Given the description of an element on the screen output the (x, y) to click on. 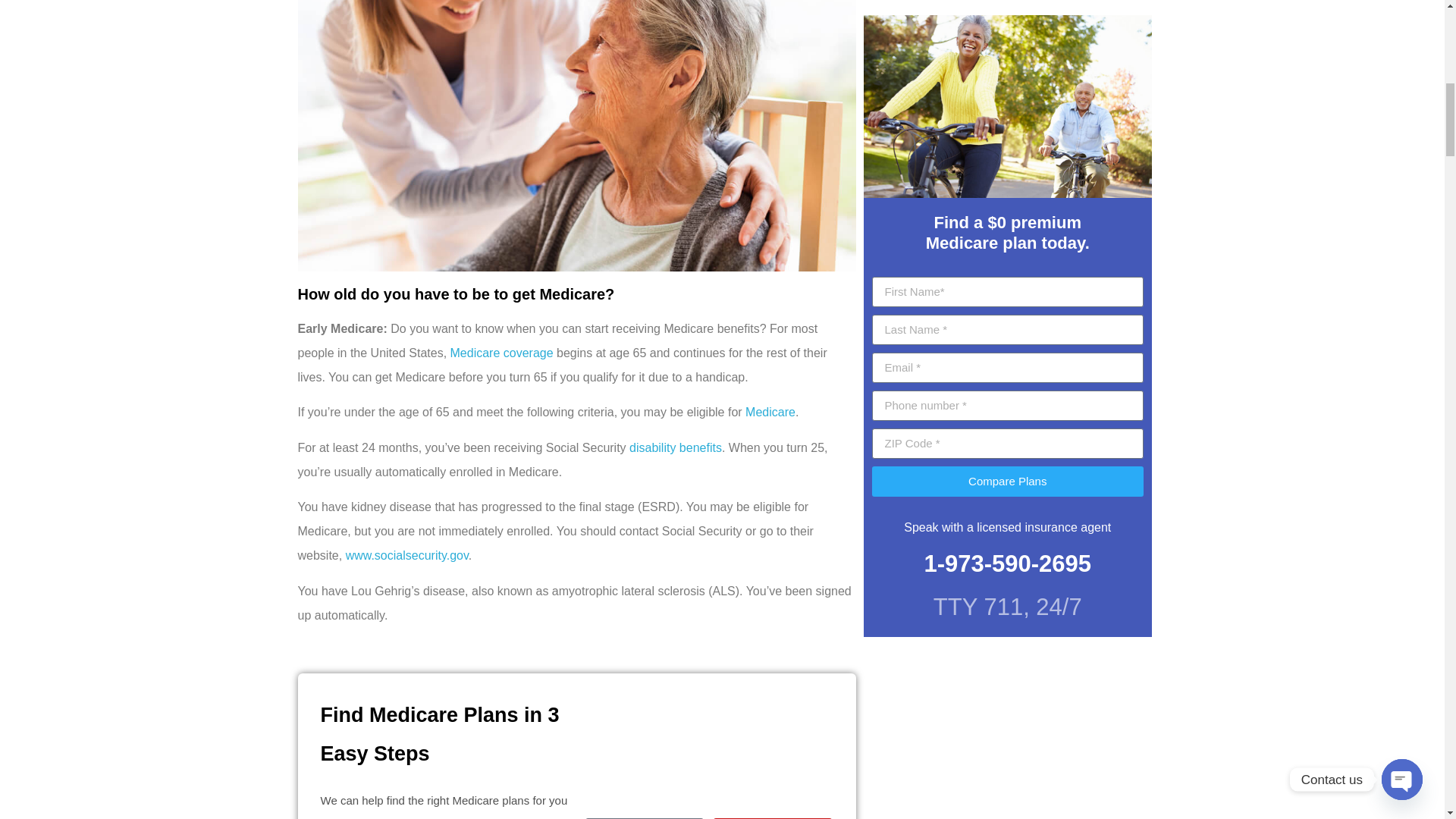
disability benefits (675, 447)
Medicare coverage (501, 352)
Medicare (769, 411)
www.socialsecurity.gov (407, 554)
